Given the description of an element on the screen output the (x, y) to click on. 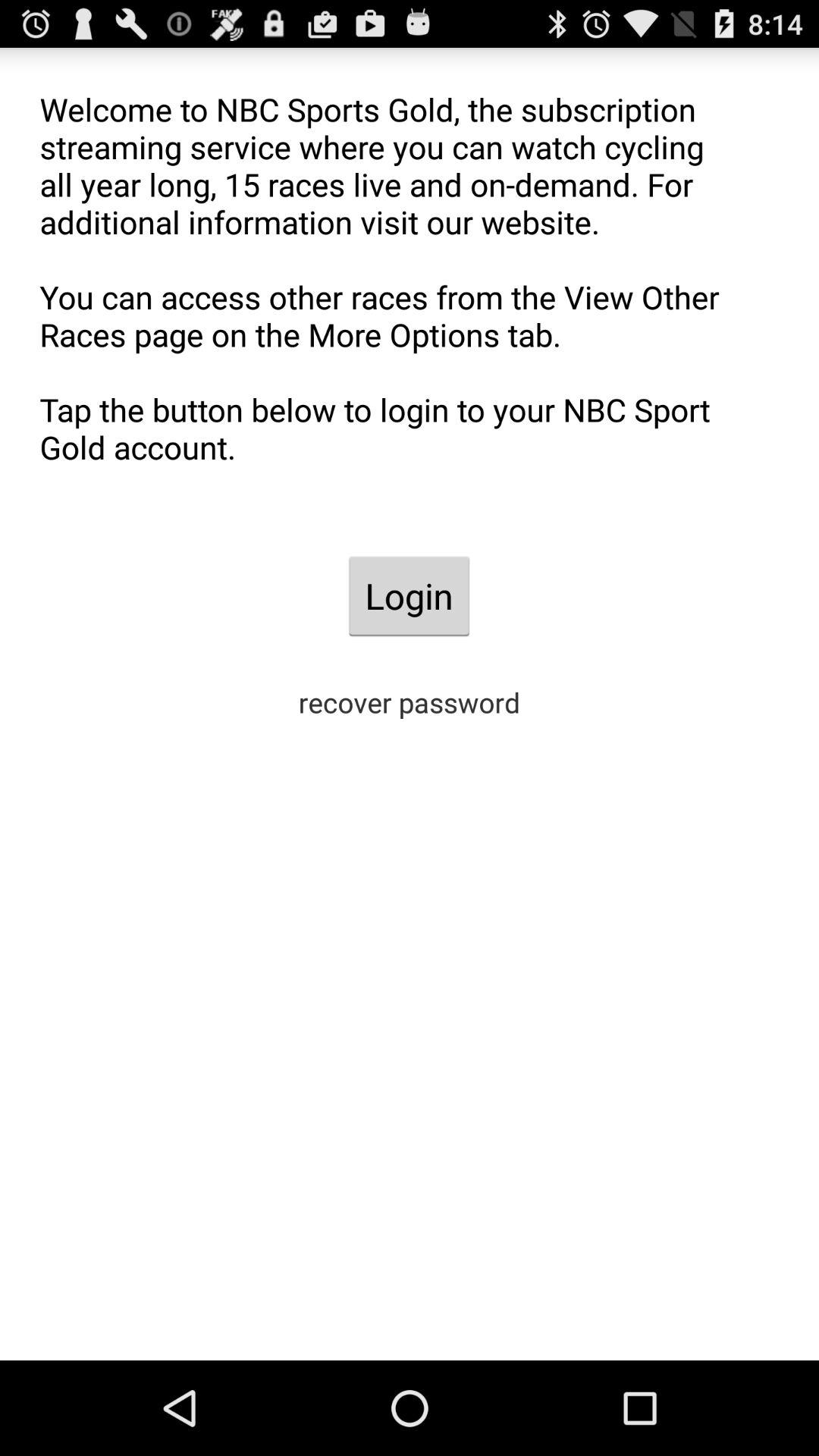
turn off recover password icon (409, 702)
